Given the description of an element on the screen output the (x, y) to click on. 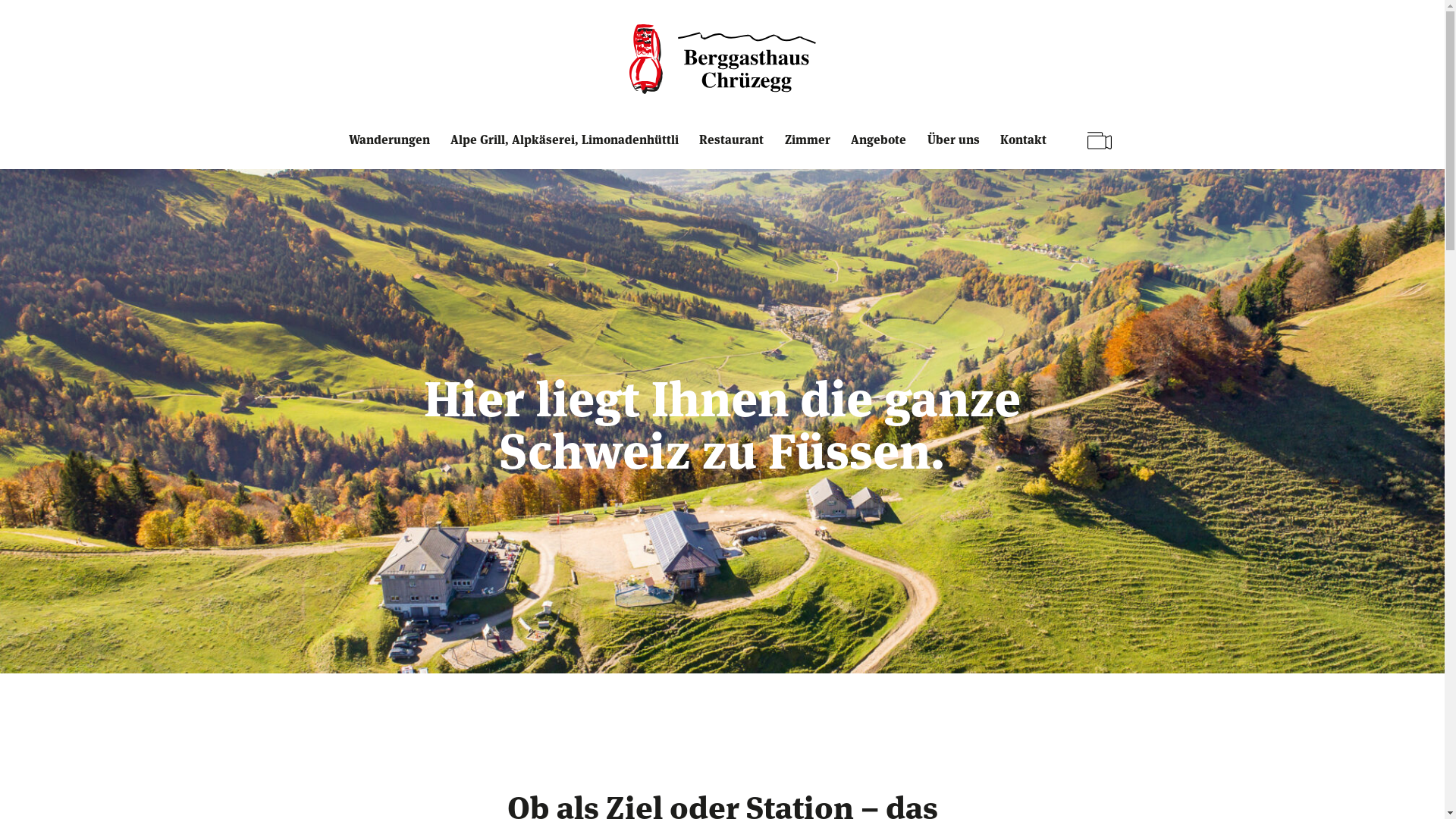
Angebote Element type: text (881, 150)
Zimmer Element type: text (810, 150)
Restaurant Element type: text (734, 150)
Kontakt Element type: text (1026, 150)
Wanderungen Element type: text (392, 150)
